Given the description of an element on the screen output the (x, y) to click on. 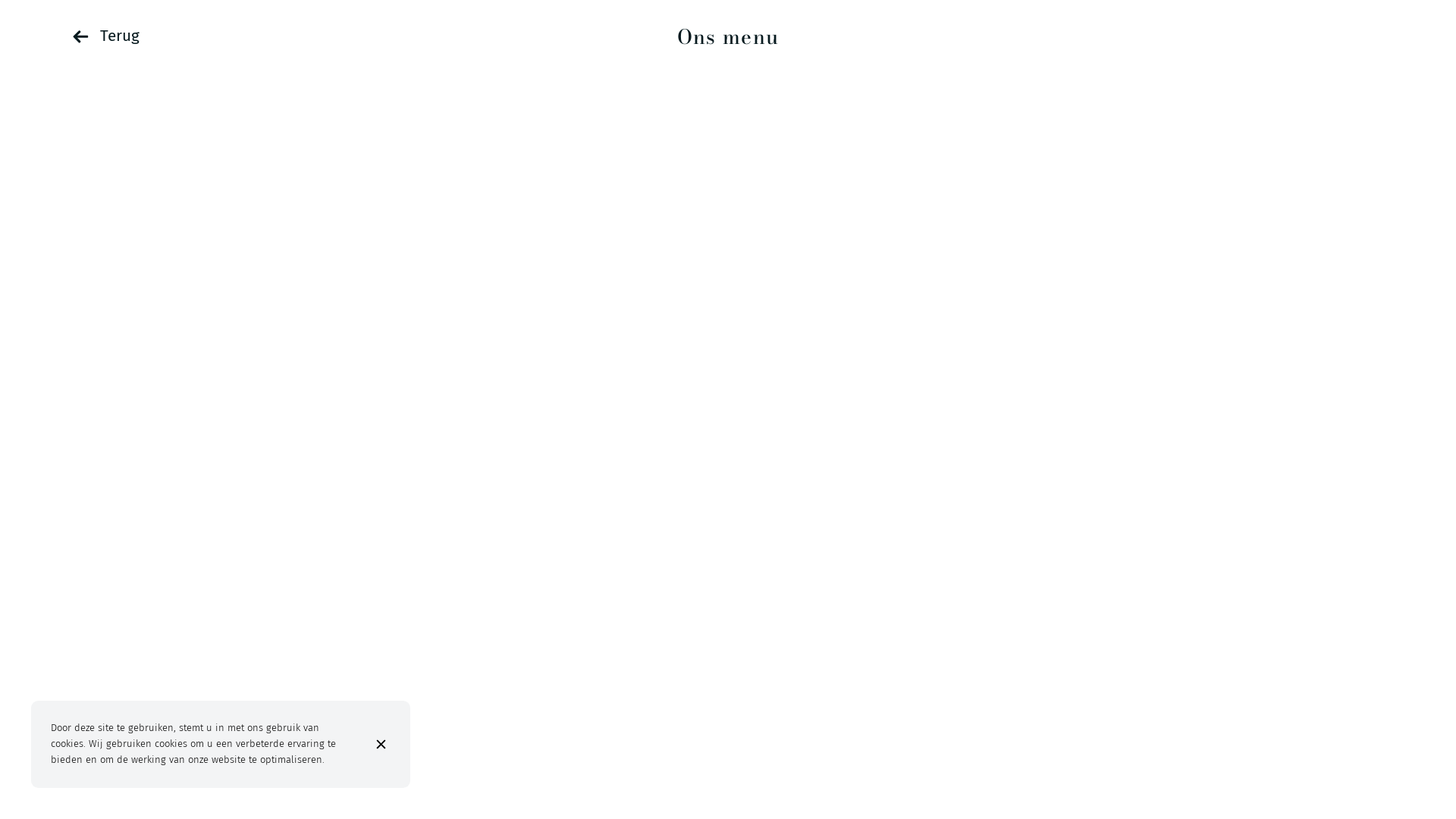
Terug Element type: text (105, 36)
Sluit de banner met cookie-informatie Element type: hover (383, 744)
